Given the description of an element on the screen output the (x, y) to click on. 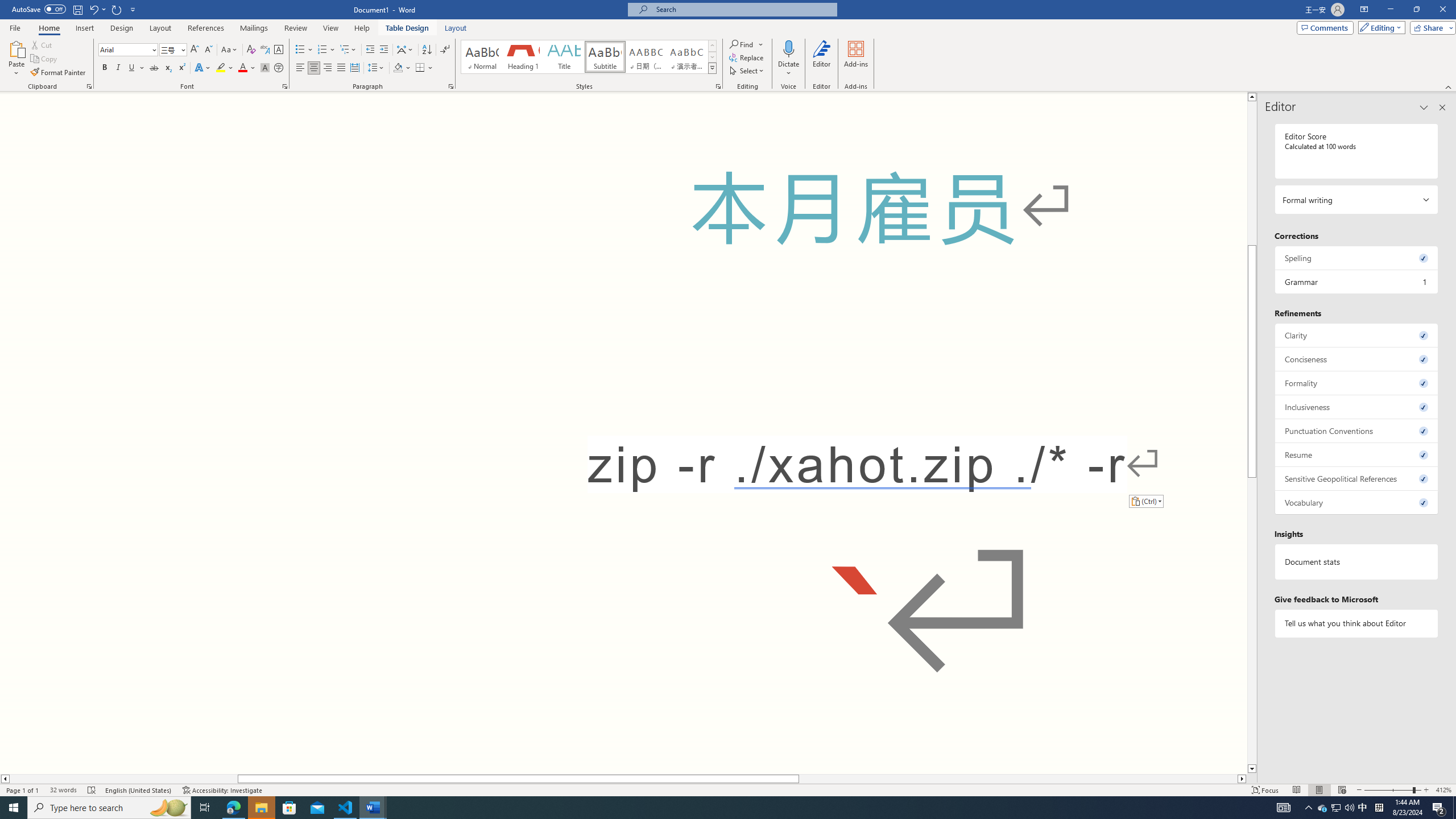
Tell us what you think about Editor (1356, 623)
Text Effects and Typography (202, 67)
Replace... (747, 56)
Editor (821, 58)
Page down (1251, 620)
Paragraph... (450, 85)
Resume, 0 issues. Press space or enter to review items. (1356, 454)
Character Border (278, 49)
Align Left (300, 67)
